Given the description of an element on the screen output the (x, y) to click on. 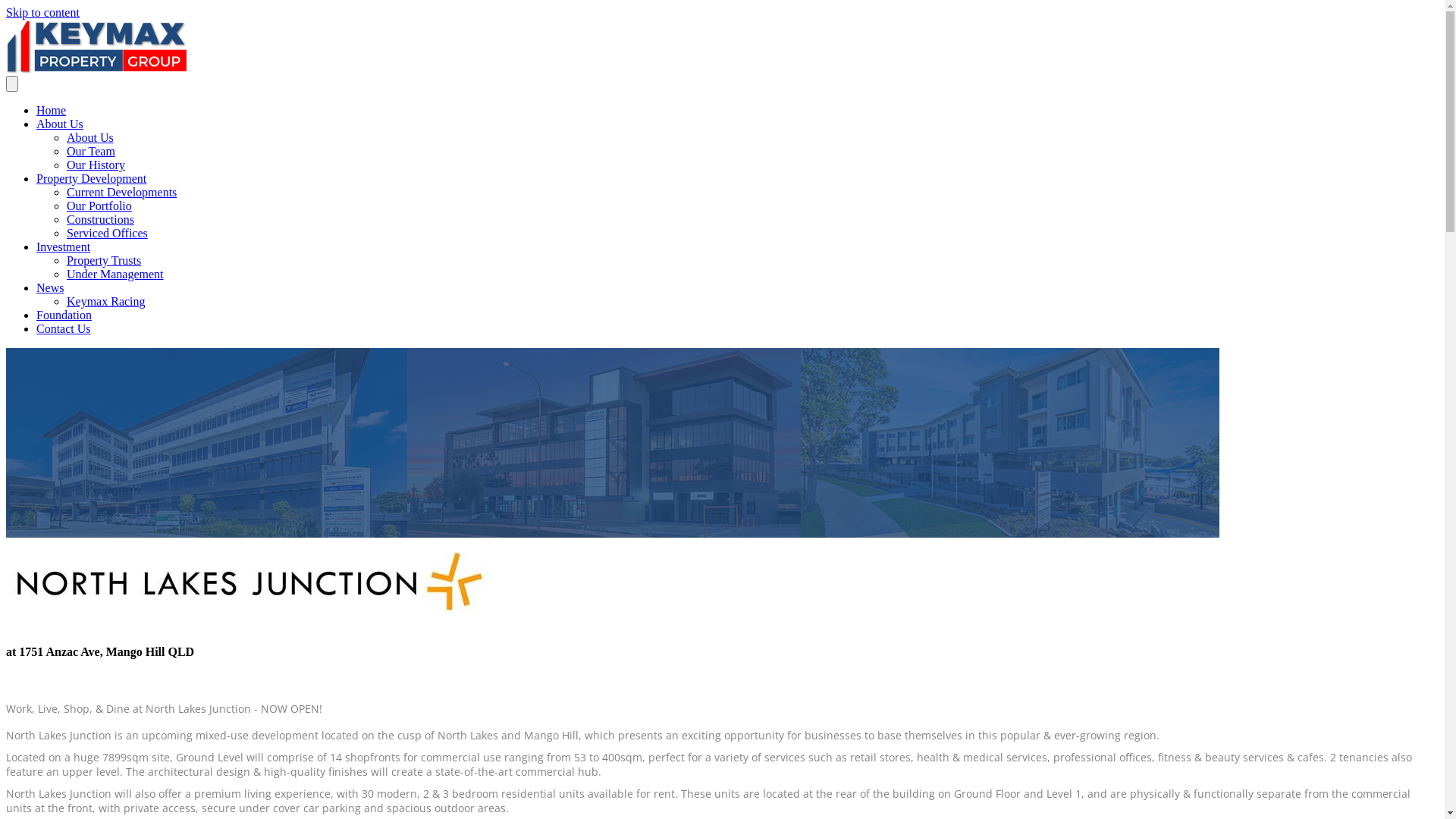
Our History Element type: text (95, 164)
News Element type: text (49, 287)
Foundation Element type: text (63, 314)
About Us Element type: text (59, 123)
Our Portfolio Element type: text (98, 205)
Keymax Racing Element type: text (105, 300)
Logo1 Element type: hover (249, 583)
Page-Header-Banner Element type: hover (612, 442)
About Us Element type: text (89, 137)
Property Trusts Element type: text (103, 260)
Current Developments Element type: text (121, 191)
Under Management Element type: text (114, 273)
Serviced Offices Element type: text (106, 232)
Our Team Element type: text (90, 150)
Skip to content Element type: text (42, 12)
Home Element type: text (50, 109)
keymax-logo3 Element type: hover (97, 45)
Property Development Element type: text (91, 178)
Investment Element type: text (63, 246)
Contact Us Element type: text (63, 328)
Constructions Element type: text (100, 219)
